Given the description of an element on the screen output the (x, y) to click on. 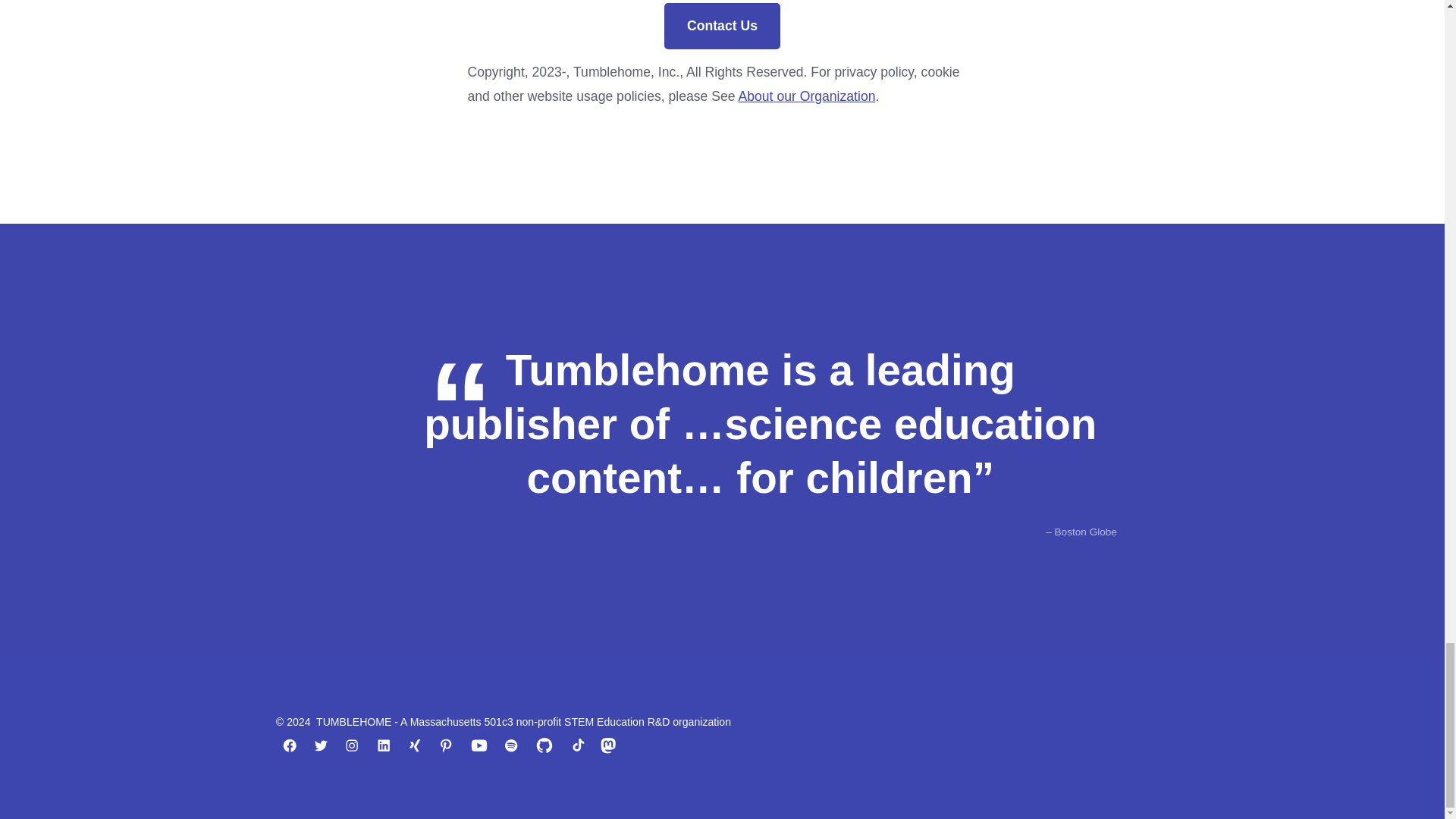
Open Twitter in a new tab (320, 745)
Open Spotify in a new tab (510, 745)
Open Facebook in a new tab (289, 745)
Open Instagram in a new tab (351, 745)
Open Xing in a new tab (414, 745)
Contact Us (720, 26)
Open YouTube in a new tab (479, 745)
Open GitHub in a new tab (544, 745)
Open LinkedIn in a new tab (383, 745)
About our Organization (807, 96)
Open TikTok in a new tab (577, 745)
Open Mastodon in a new tab (607, 745)
Open Pinterest in a new tab (446, 745)
